Given the description of an element on the screen output the (x, y) to click on. 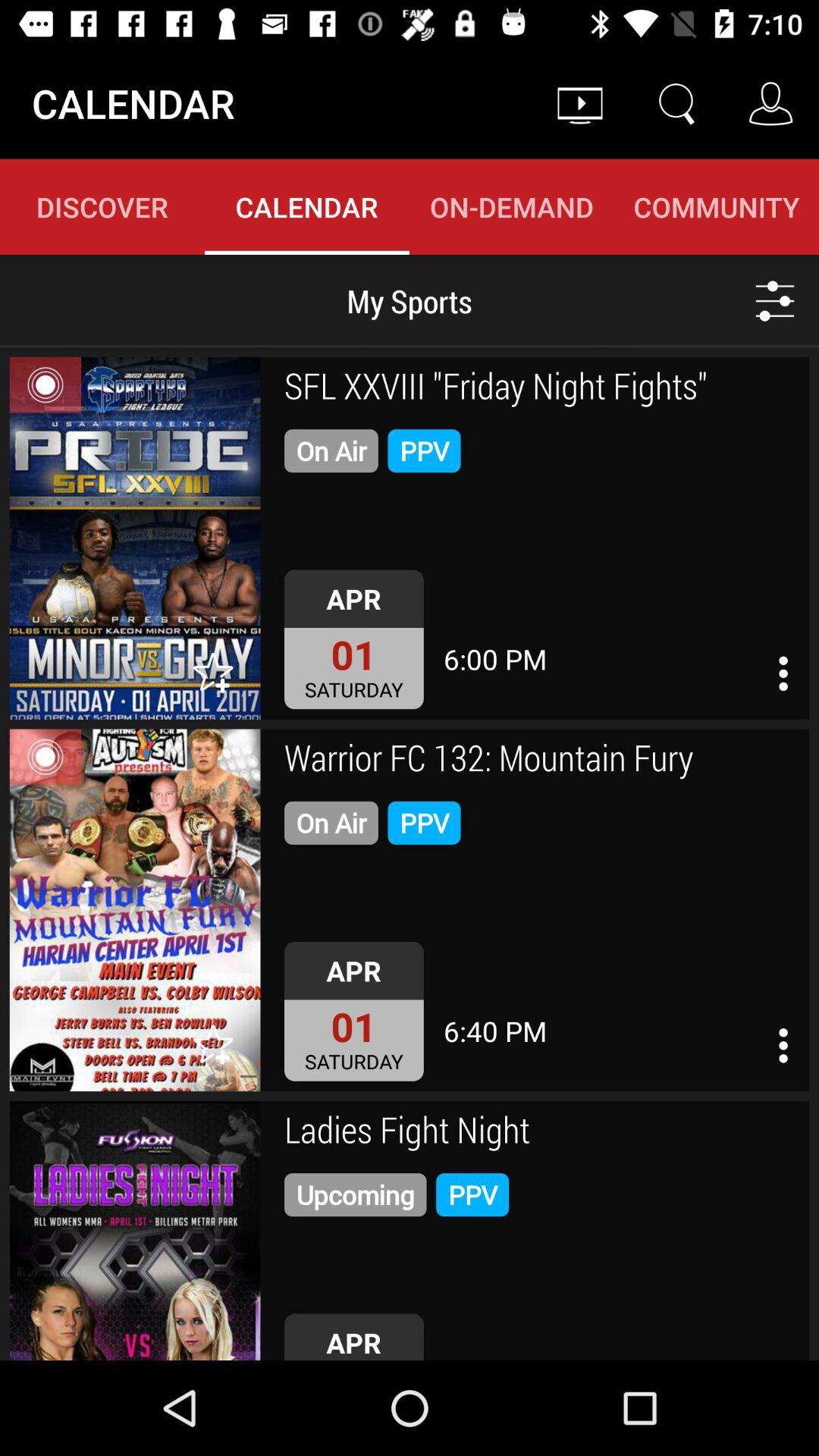
open up side menu (783, 1045)
